Given the description of an element on the screen output the (x, y) to click on. 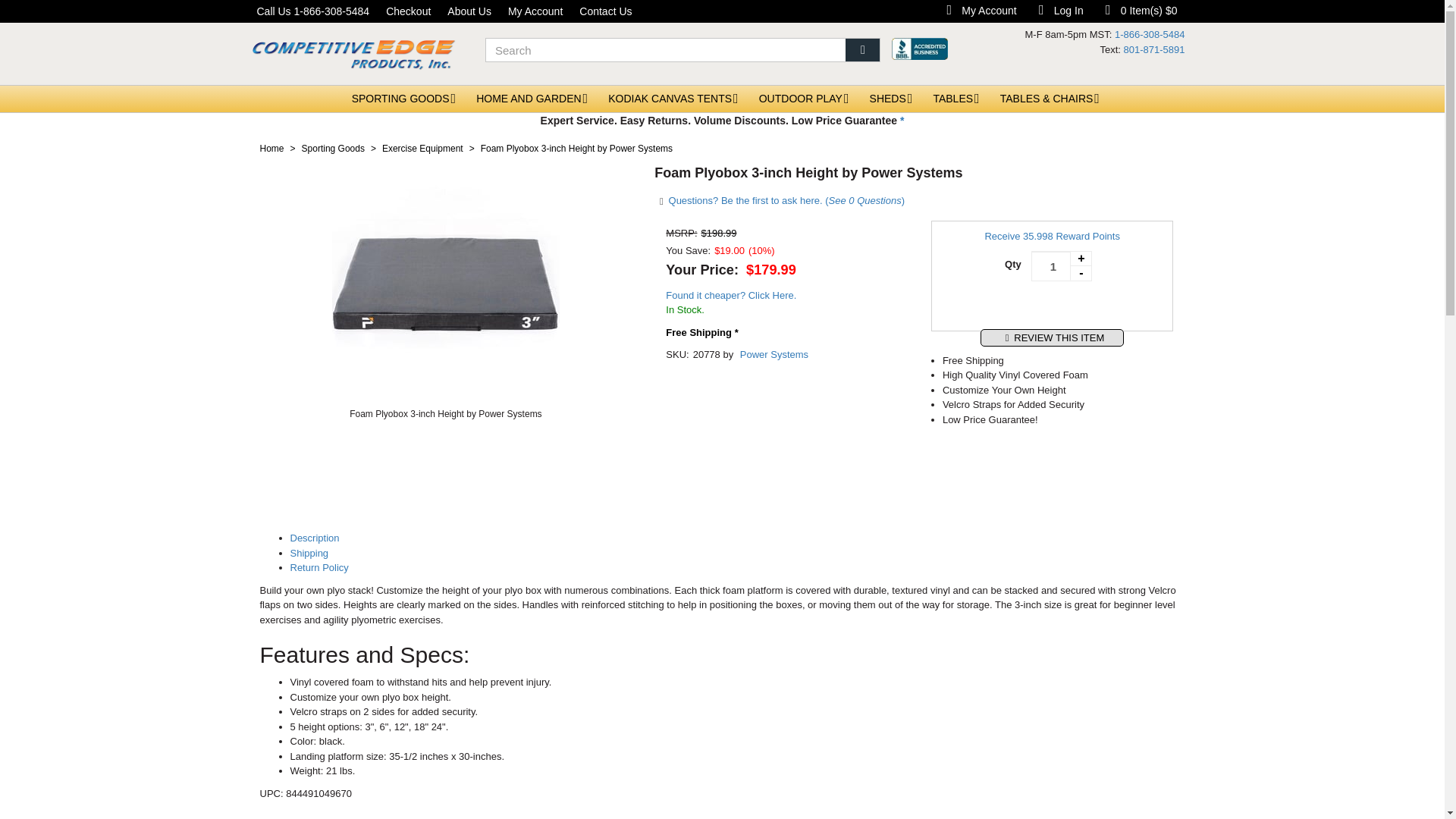
Foam Plyobox 3-inch Height by Power Systems  (445, 278)
Checkout (408, 11)
About Us (469, 11)
Contact Us (605, 11)
SPORTING GOODS (400, 98)
Call Us 1-866-308-5484 (313, 11)
801-871-5891 (1154, 49)
Foam Plyobox 3-inch Height by Power Systems  (445, 413)
1-866-308-5484 (1150, 34)
1 (1061, 265)
My Account (1057, 10)
HOME AND GARDEN (534, 11)
